Given the description of an element on the screen output the (x, y) to click on. 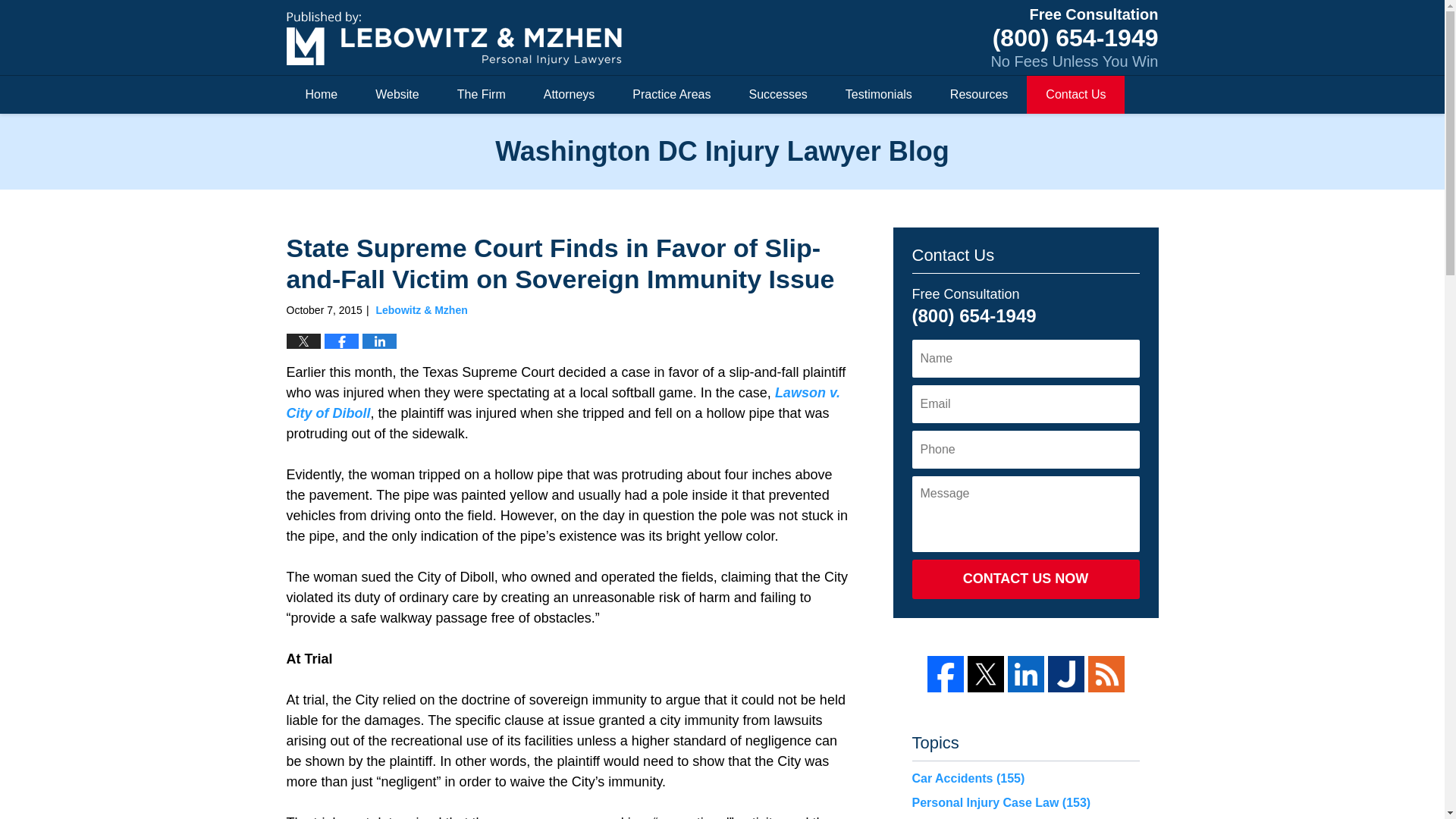
Website (397, 94)
Justia (1066, 674)
LinkedIn (1025, 674)
Lawson v. City of Diboll (563, 402)
Resources (978, 94)
Attorneys (569, 94)
Home (321, 94)
Successes (777, 94)
Twitter (986, 674)
Testimonials (879, 94)
The Firm (481, 94)
Feed (1105, 674)
Contact Us (1075, 94)
Practice Areas (670, 94)
Facebook (944, 674)
